Given the description of an element on the screen output the (x, y) to click on. 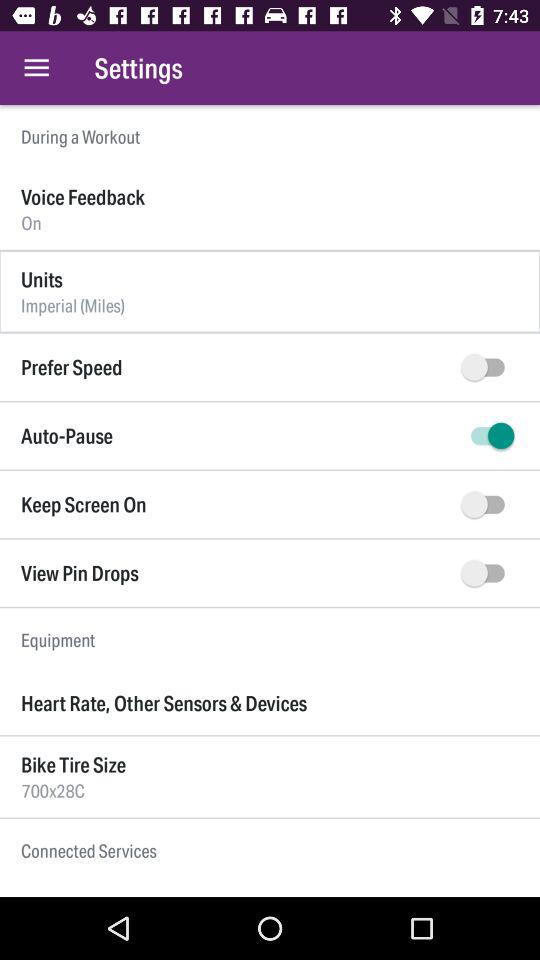
click on autopause toggle button (487, 435)
select the icon which is left to the view pin drops (487, 572)
